Given the description of an element on the screen output the (x, y) to click on. 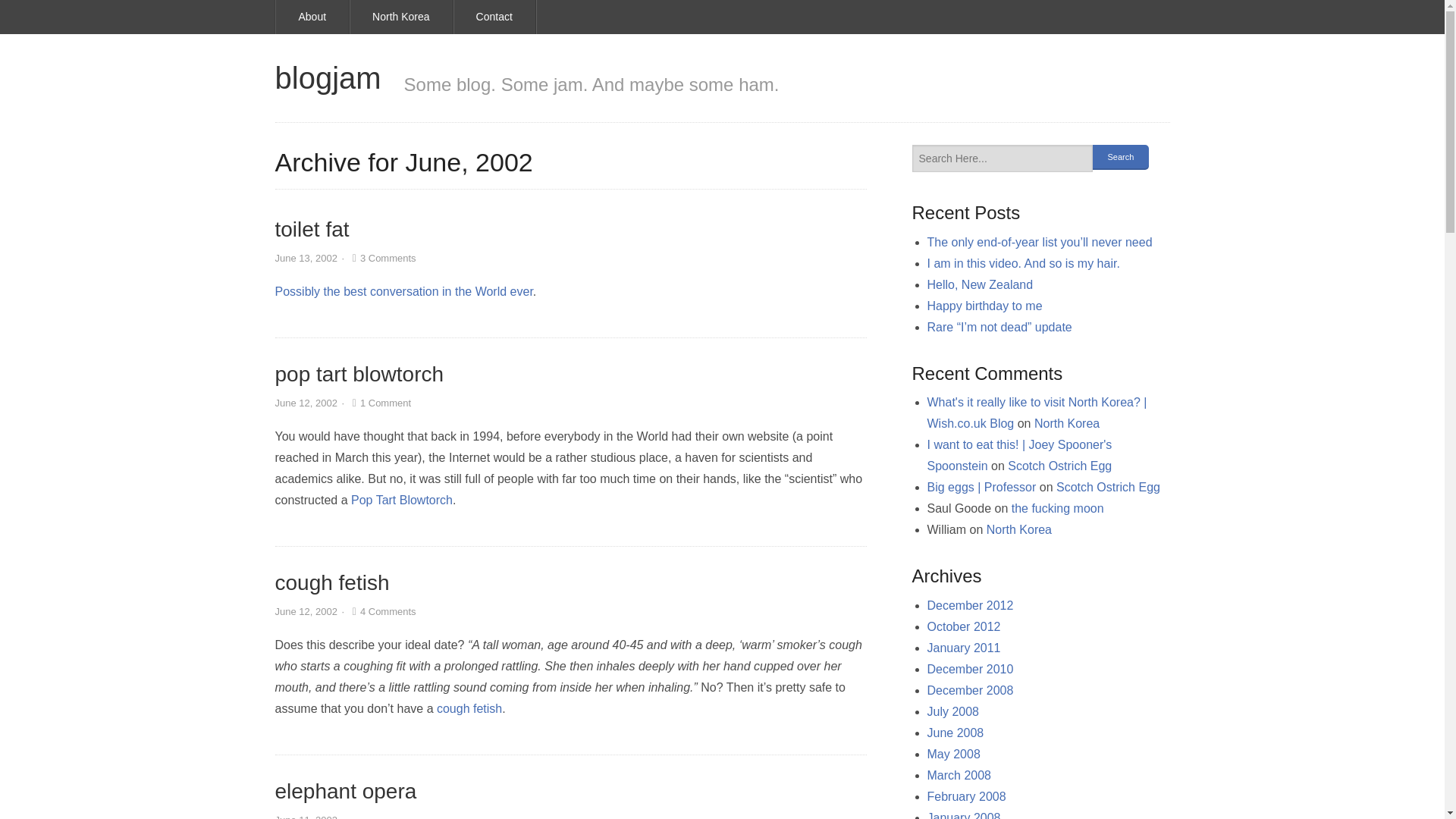
Search (1120, 156)
Contact (493, 17)
pop tart blowtorch (359, 373)
elephant opera (345, 791)
cough fetish (331, 582)
4 Comments (382, 611)
Search (1120, 156)
Permanent Link to toilet fat (312, 228)
blogjam (327, 77)
Search (1120, 156)
Permanent Link to pop tart blowtorch (359, 373)
Search Here... (1002, 157)
3 Comments (382, 257)
Possibly the best conversation in the World ever (403, 291)
Pop Tart Blowtorch (401, 499)
